Given the description of an element on the screen output the (x, y) to click on. 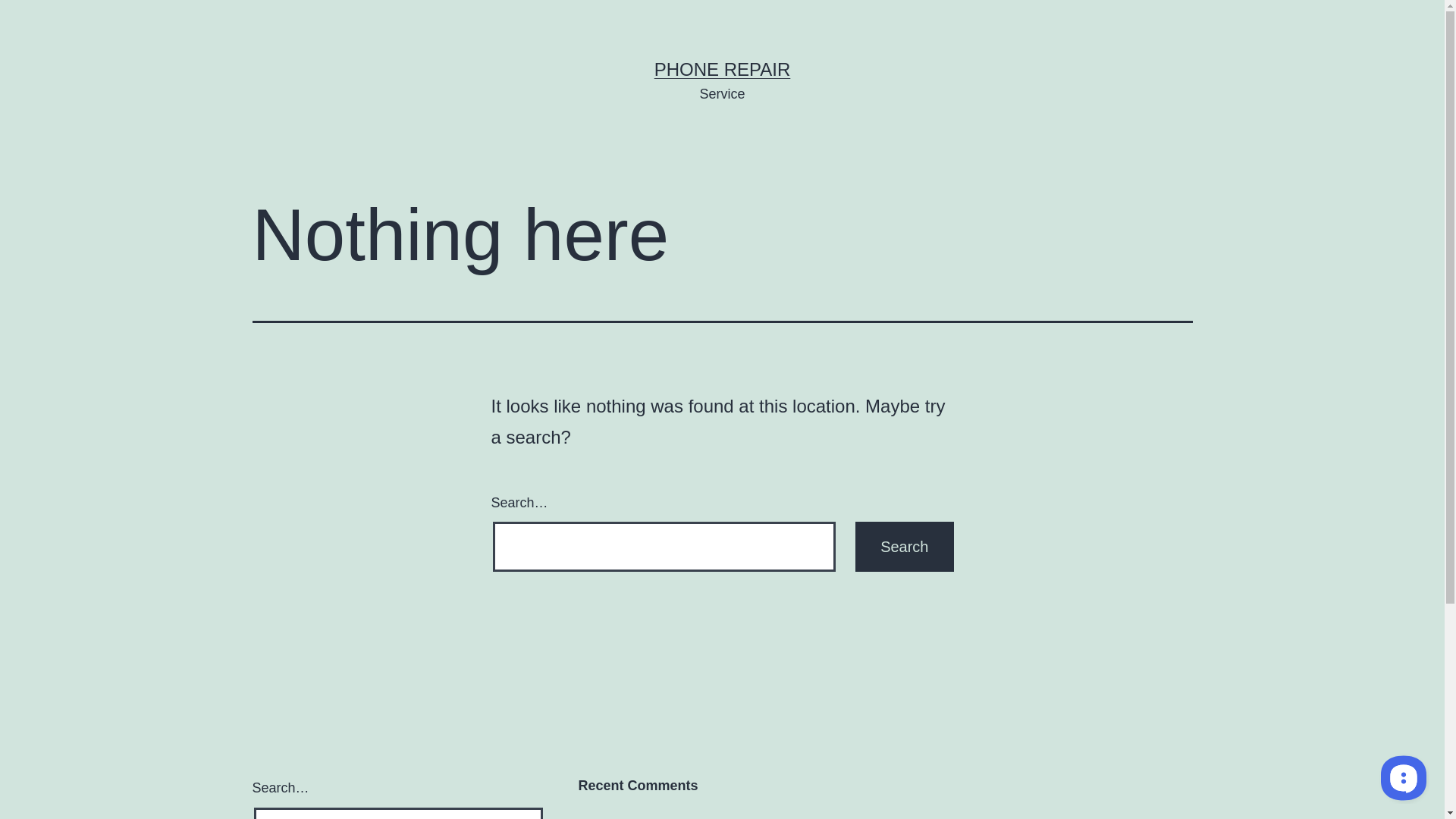
PHONE REPAIR Element type: text (722, 69)
Search Element type: text (904, 546)
__replain_widget_iframe Element type: hover (1402, 776)
